Given the description of an element on the screen output the (x, y) to click on. 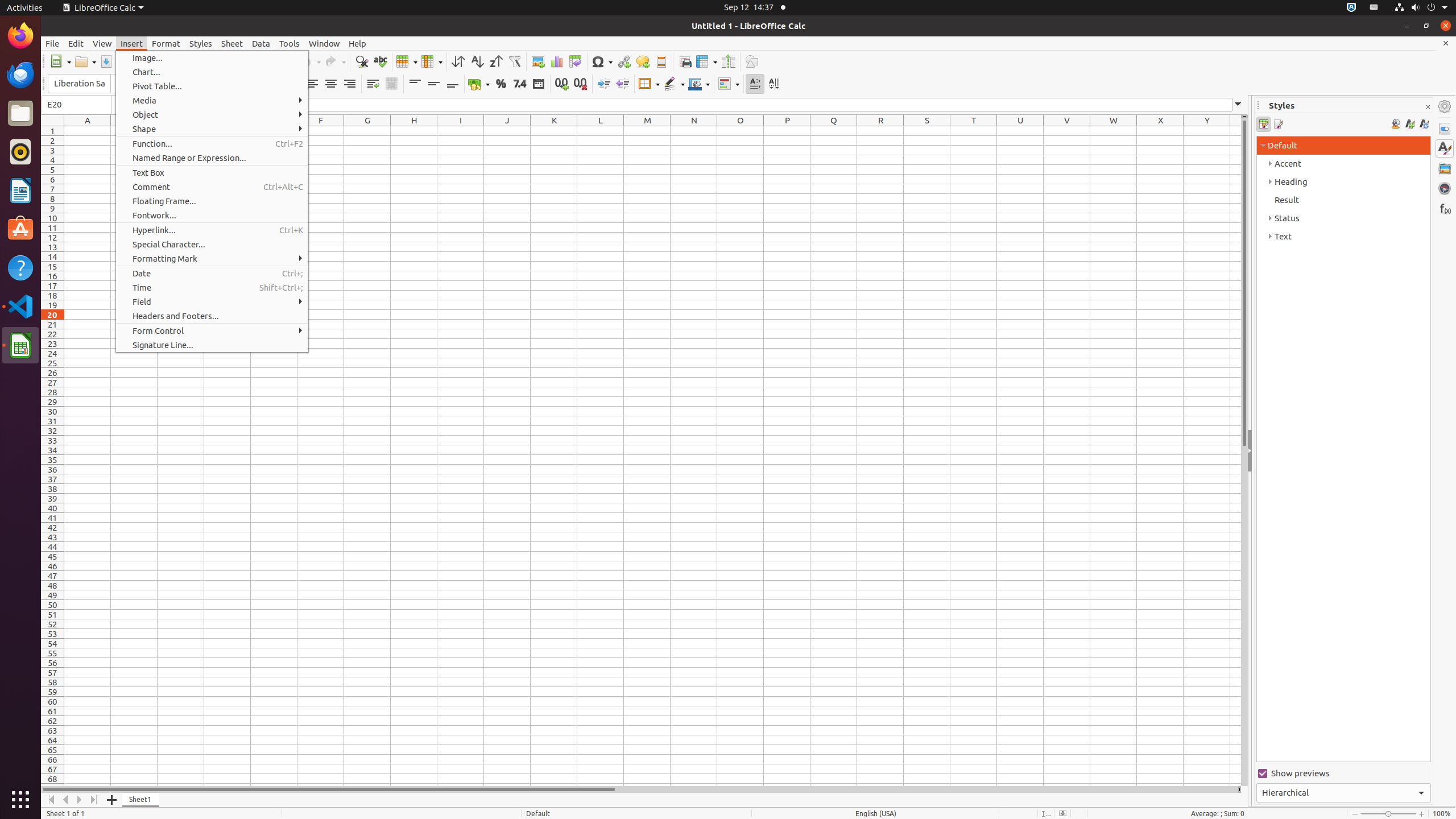
X1 Element type: table-cell (1159, 130)
Gallery Element type: radio-button (1444, 168)
New Style from Selection Element type: push-button (1409, 123)
Symbol Element type: push-button (601, 61)
A1 Element type: table-cell (87, 130)
